Given the description of an element on the screen output the (x, y) to click on. 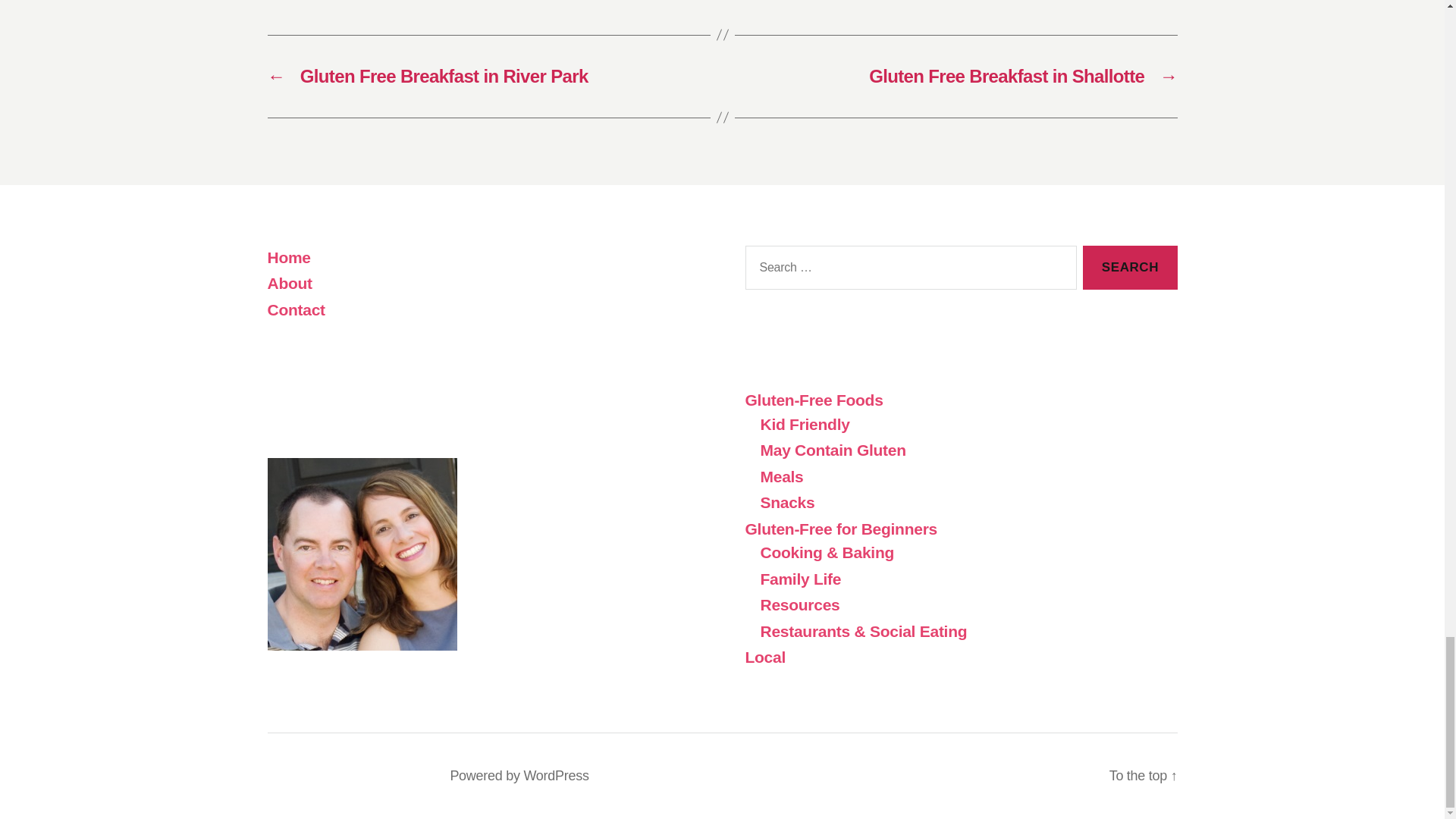
Contact (295, 309)
gluten-free for beginners. (840, 528)
Search (1129, 267)
gluten-free meals category (781, 476)
Search (1129, 267)
